Given the description of an element on the screen output the (x, y) to click on. 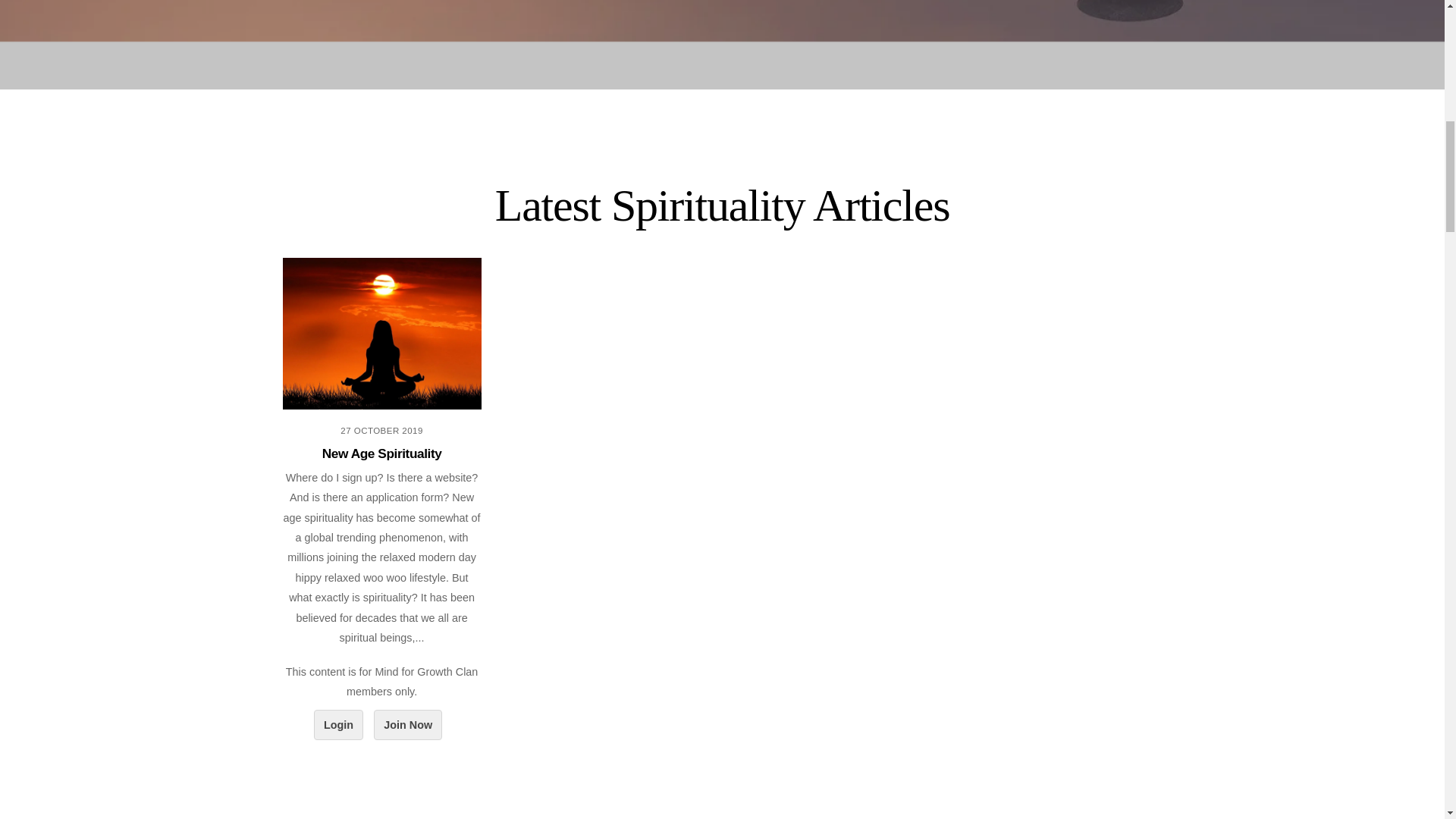
New Age Spirituality (381, 453)
Join Now (408, 725)
Login (338, 725)
